Given the description of an element on the screen output the (x, y) to click on. 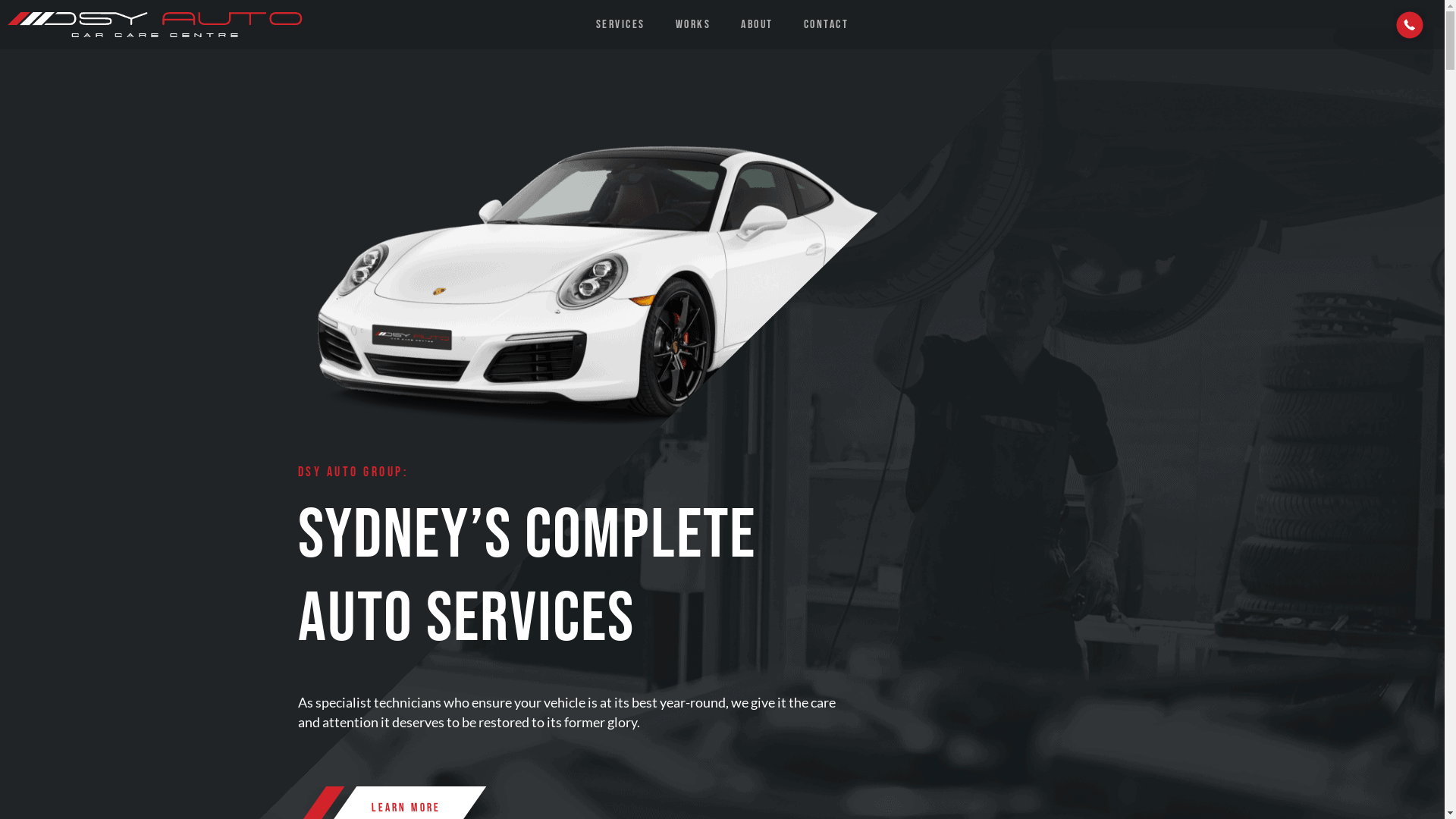
About Element type: text (756, 24)
Services Element type: text (620, 24)
Contact Element type: text (826, 24)
Works Element type: text (693, 24)
